Given the description of an element on the screen output the (x, y) to click on. 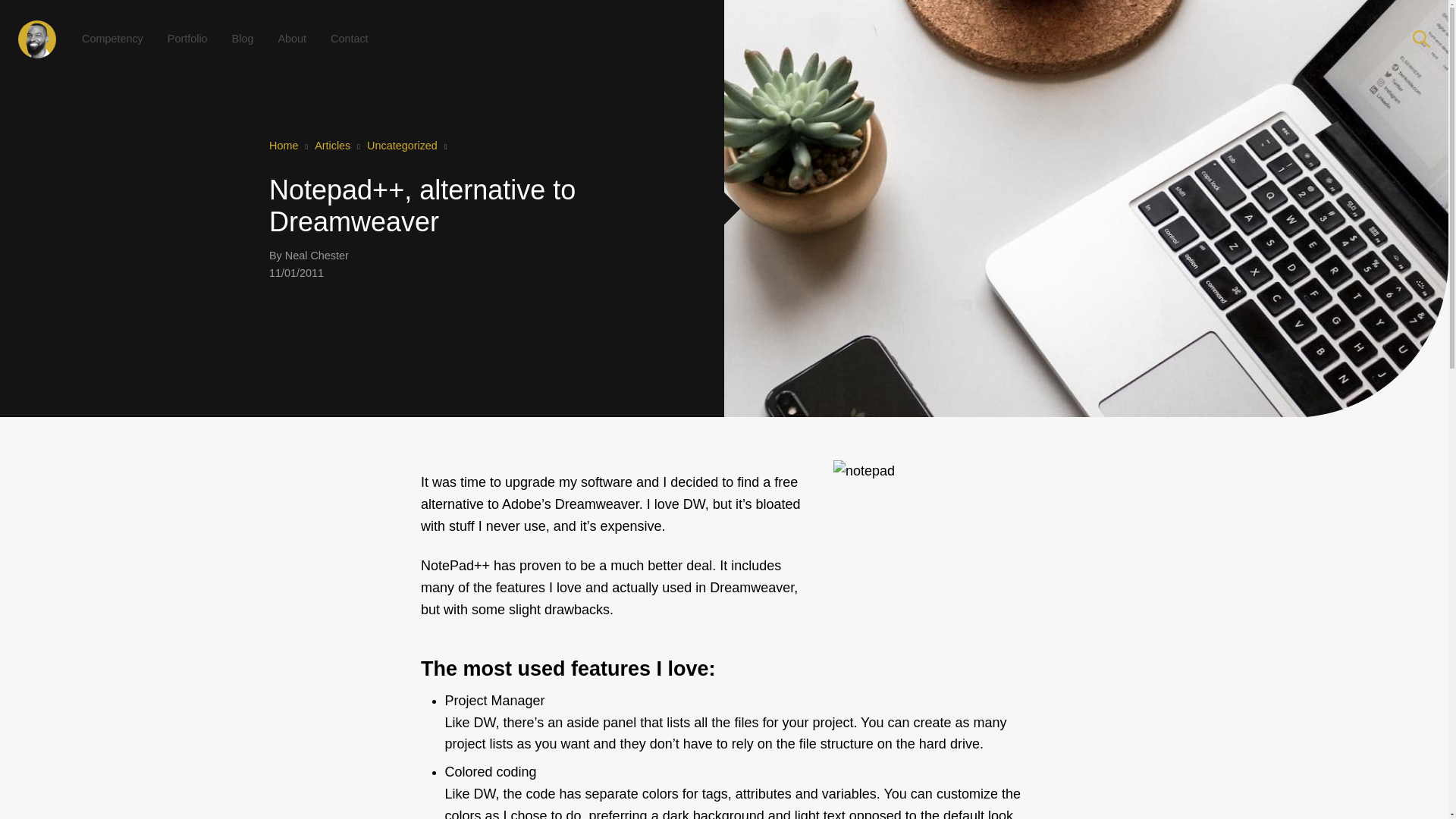
Uncategorized (402, 145)
Home (283, 145)
Blog (242, 24)
Contact (349, 33)
Portfolio (187, 24)
Articles (332, 145)
Neal Chester (317, 255)
About (291, 28)
